Given the description of an element on the screen output the (x, y) to click on. 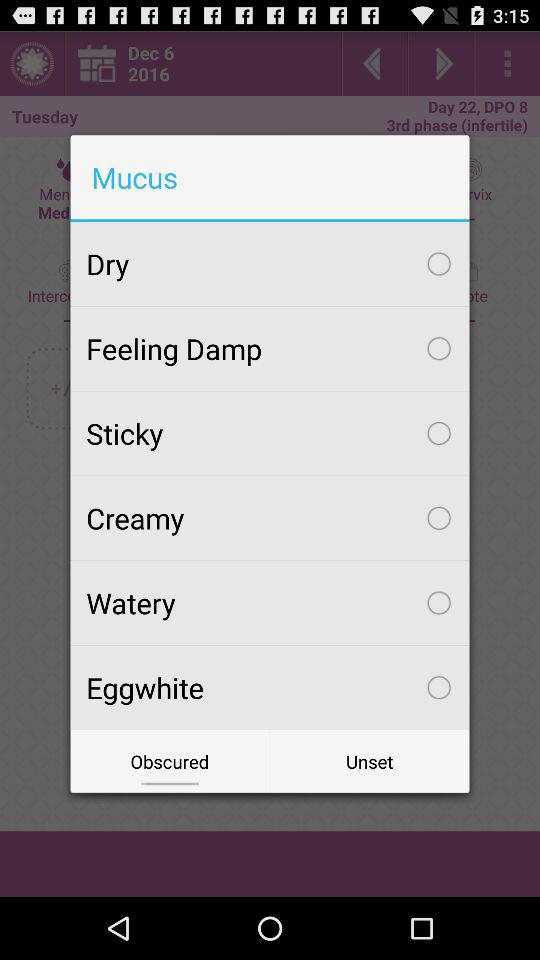
choose dry checkbox (269, 263)
